Given the description of an element on the screen output the (x, y) to click on. 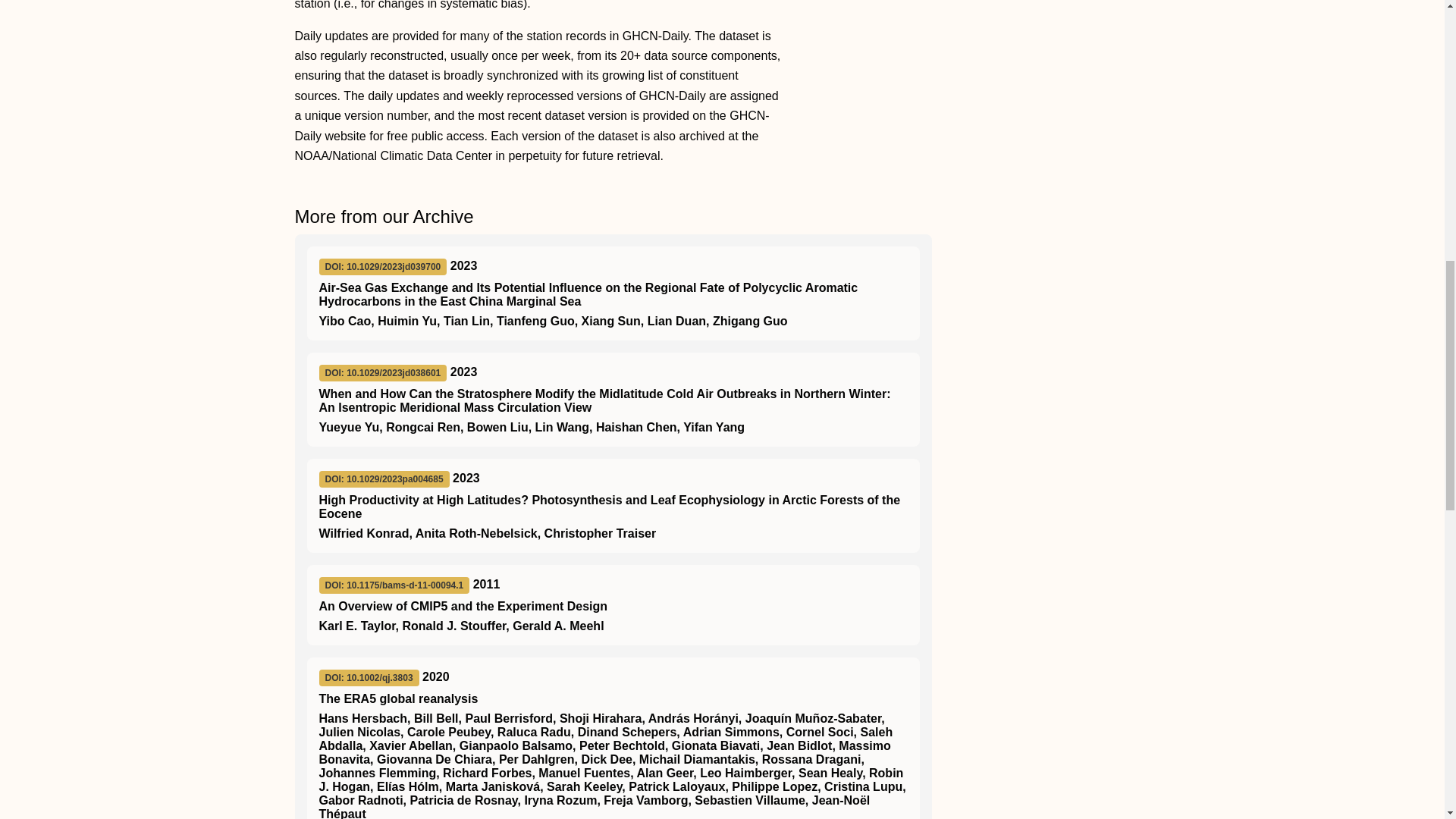
Advertisement (1049, 62)
